Given the description of an element on the screen output the (x, y) to click on. 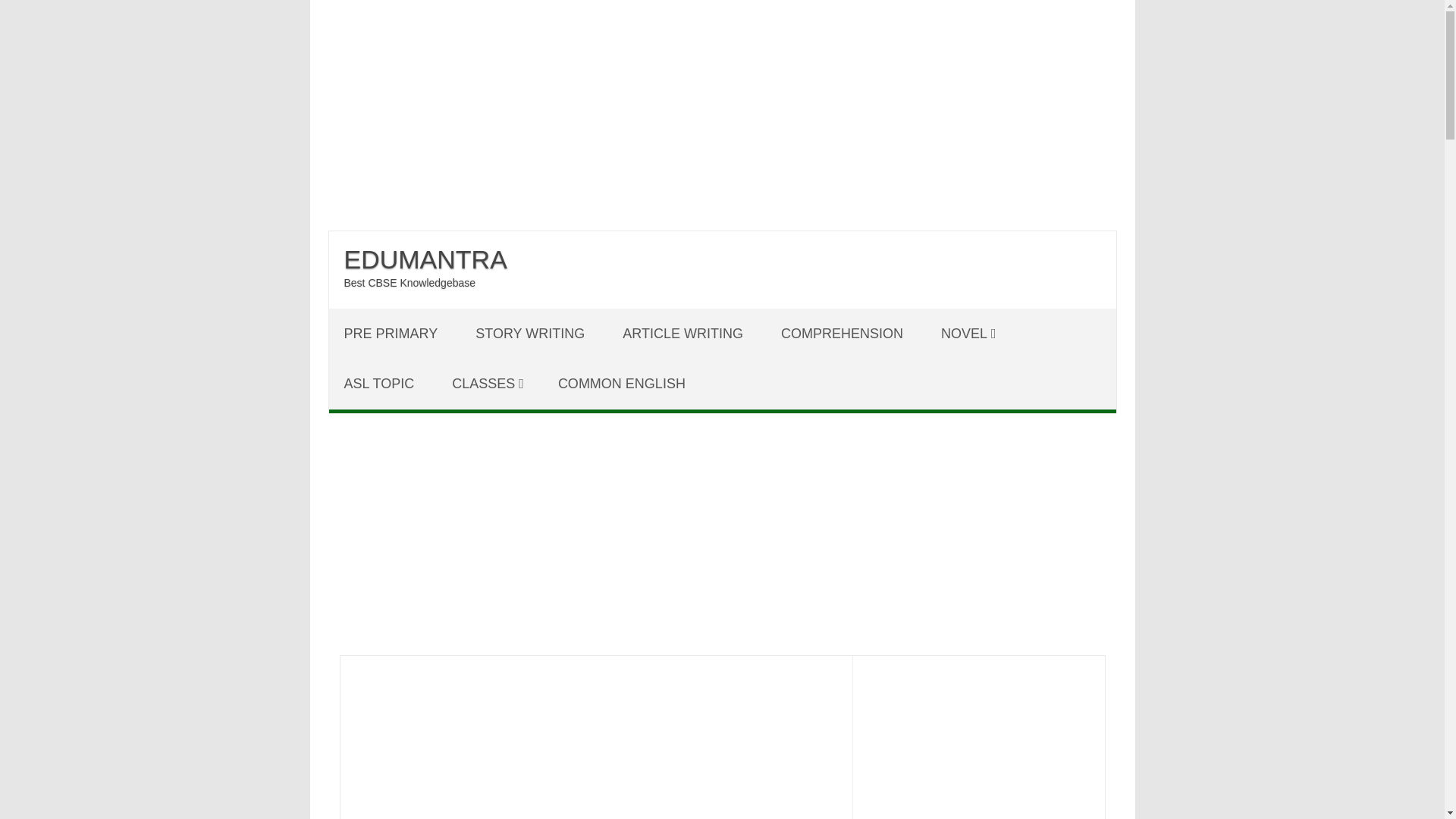
Best CBSE Knowledgebase (409, 282)
CLASSES (487, 383)
EDUMANTRA (424, 258)
ASL TOPIC (381, 383)
COMMON ENGLISH (623, 383)
Advertisement (596, 751)
ARTICLE WRITING (684, 333)
PRE PRIMARY (393, 333)
EDUMANTRA (424, 258)
